Given the description of an element on the screen output the (x, y) to click on. 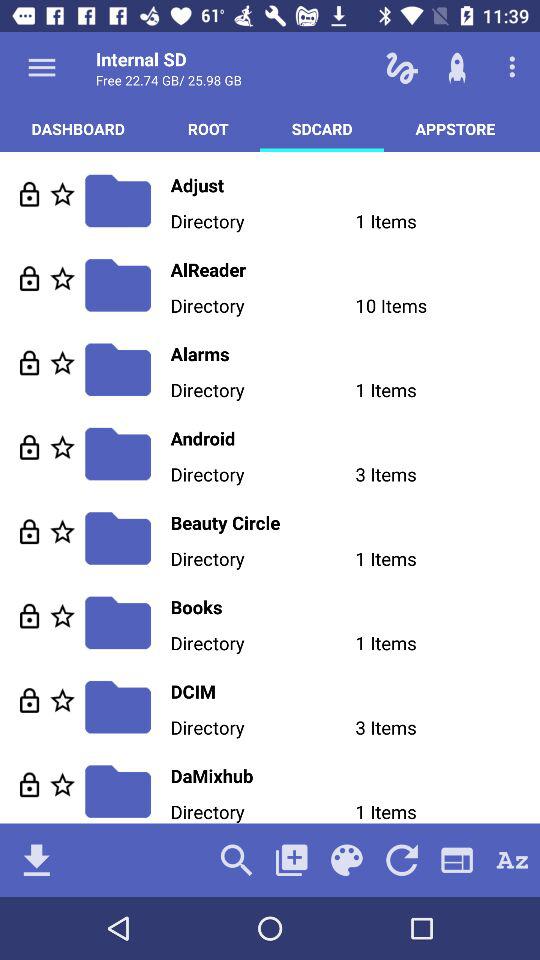
lock in folder (29, 784)
